Given the description of an element on the screen output the (x, y) to click on. 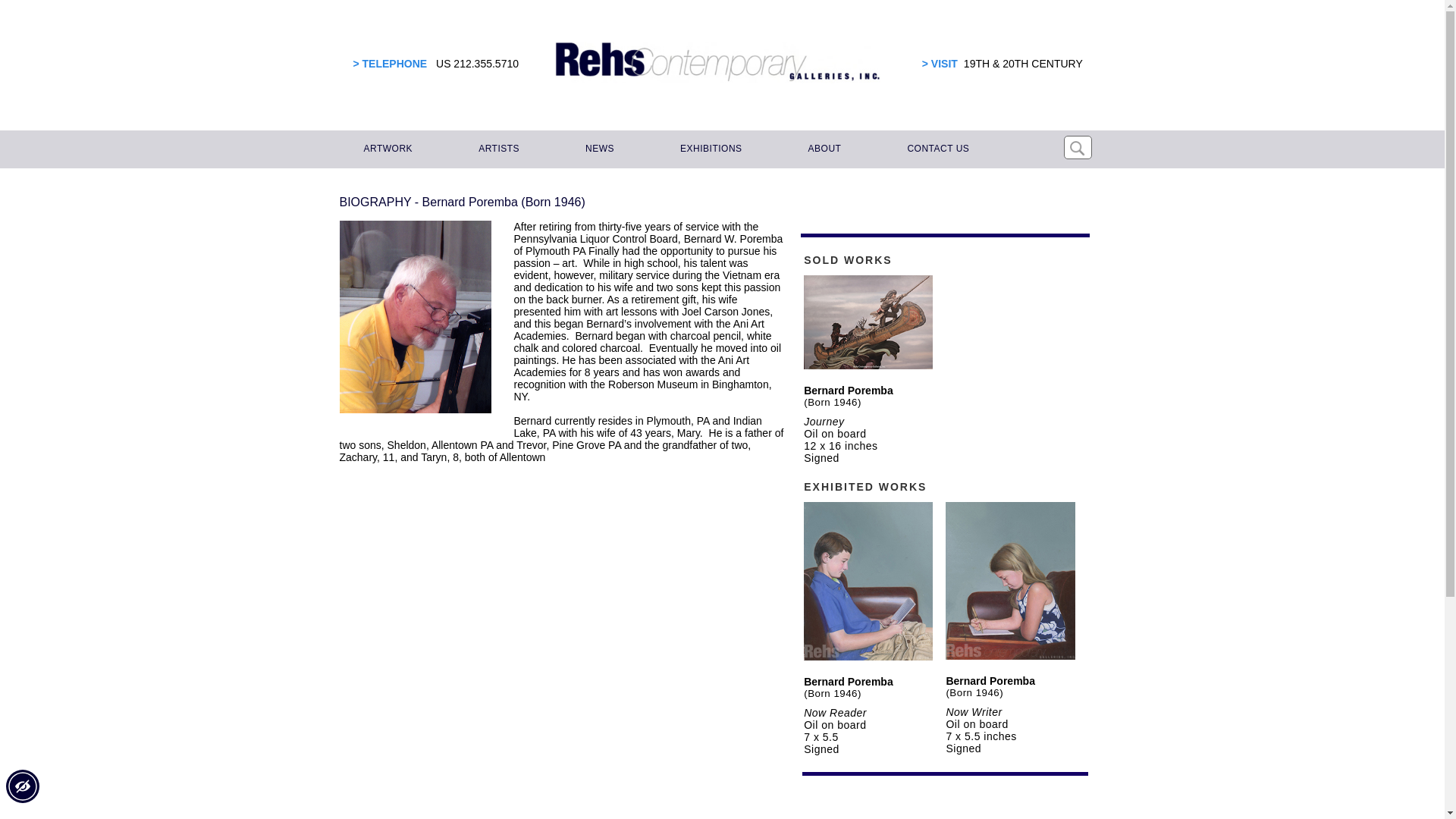
Logo (717, 62)
ARTWORK (386, 149)
ABOUT (822, 149)
Journey (823, 421)
NEWS (597, 149)
Accessibility Menu (22, 786)
EXHIBITIONS (708, 149)
ARTISTS (496, 149)
CONTACT US (935, 149)
